Given the description of an element on the screen output the (x, y) to click on. 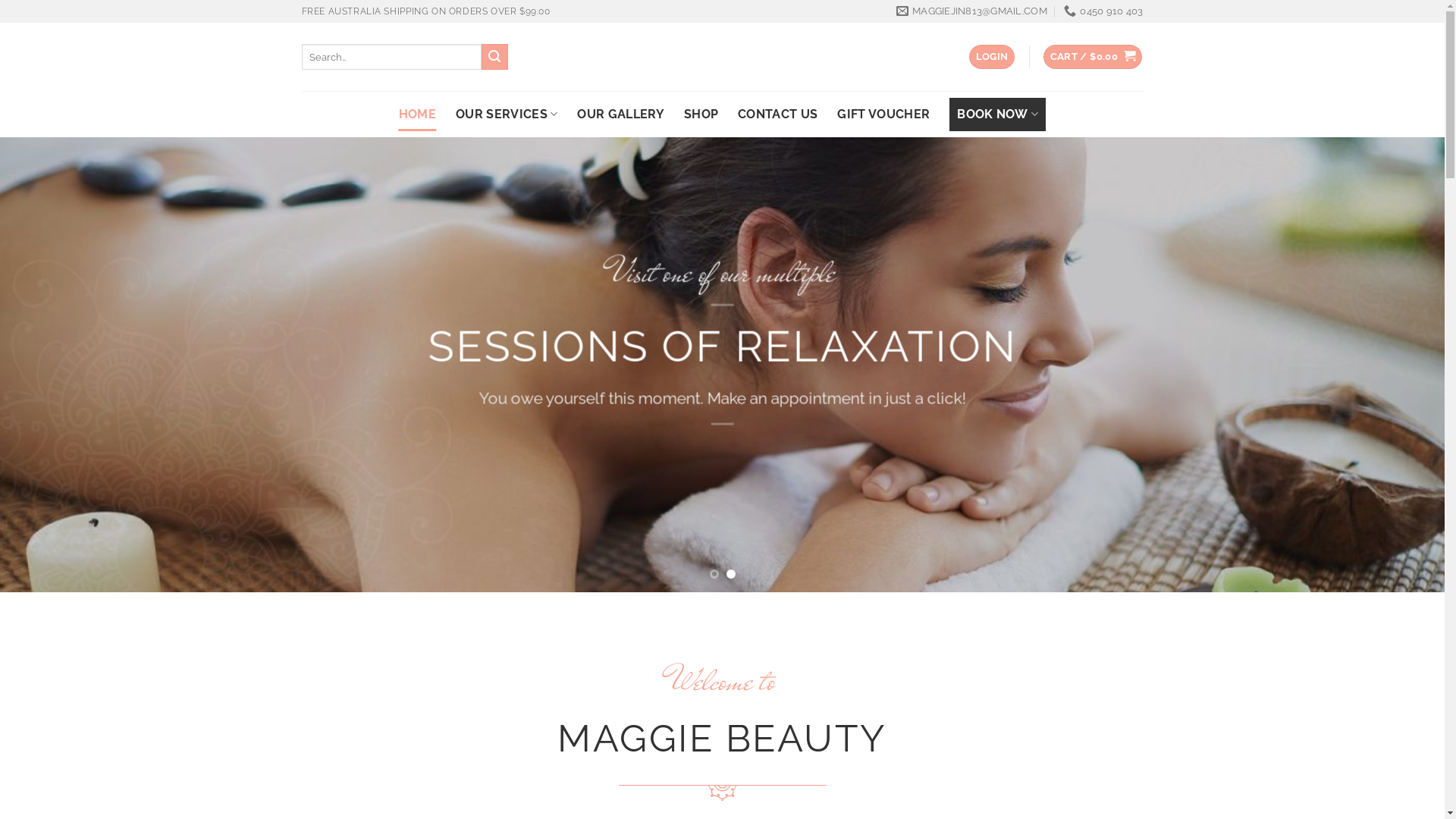
OUR SERVICES Element type: text (506, 113)
HOME Element type: text (417, 113)
0450 910 403 Element type: text (1102, 10)
GIFT VOUCHER Element type: text (883, 113)
MAGGIEJIN813@GMAIL.COM Element type: text (971, 10)
Maggie Beauty Element type: hover (721, 56)
OUR GALLERY Element type: text (620, 113)
Skip to content Element type: text (0, 0)
CONTACT US Element type: text (777, 113)
BOOK NOW Element type: text (997, 113)
SHOP Element type: text (701, 113)
Search Element type: text (494, 56)
LOGIN Element type: text (992, 56)
CART / $0.00 Element type: text (1092, 56)
